Given the description of an element on the screen output the (x, y) to click on. 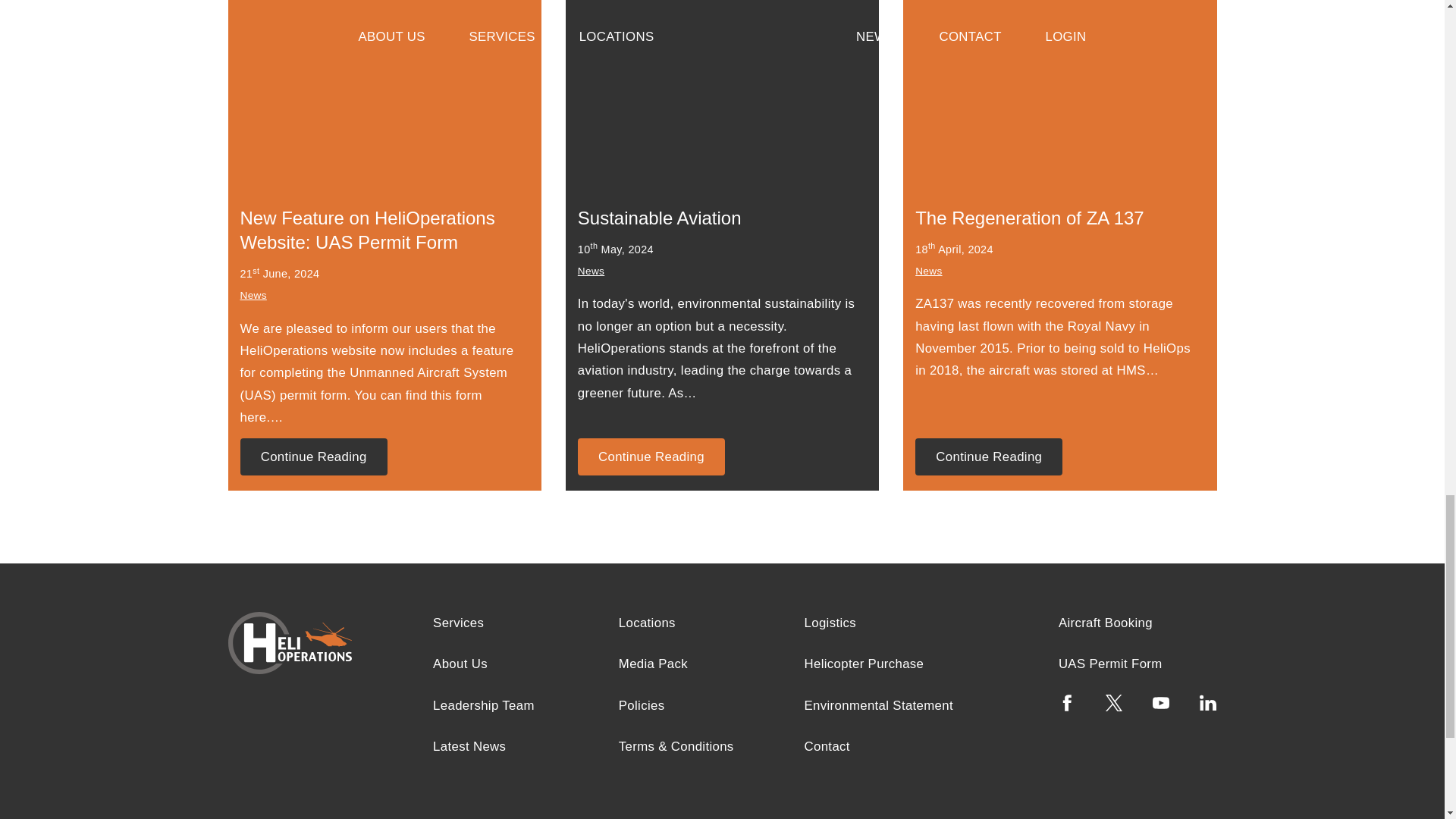
View all posts in News (928, 270)
News (591, 270)
Contact (827, 746)
Leadership Team (483, 705)
Services (457, 622)
Continue Reading (988, 456)
Logistics (830, 622)
Media Pack (652, 663)
Policies (641, 705)
View all posts in News (591, 270)
Helicopter Purchase (864, 663)
News (253, 295)
Continue Reading (651, 456)
View all posts in News (253, 295)
Latest News (468, 746)
